Given the description of an element on the screen output the (x, y) to click on. 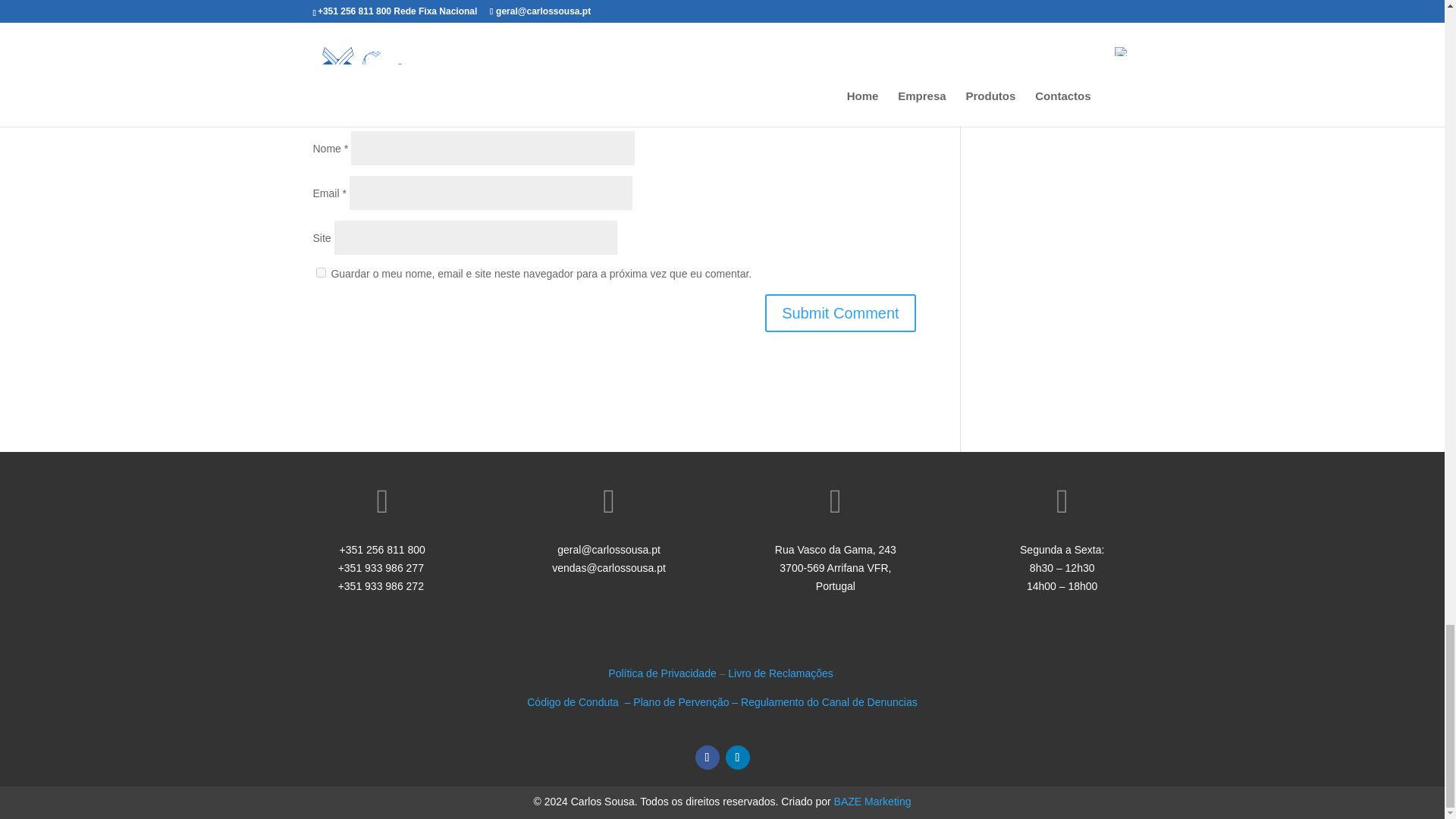
Regulamento do Canal de Denuncias (829, 702)
Follow on Facebook (706, 757)
Follow on LinkedIn (737, 757)
yes (319, 272)
BAZE Marketing (872, 801)
Submit Comment (840, 313)
Submit Comment (840, 313)
